Given the description of an element on the screen output the (x, y) to click on. 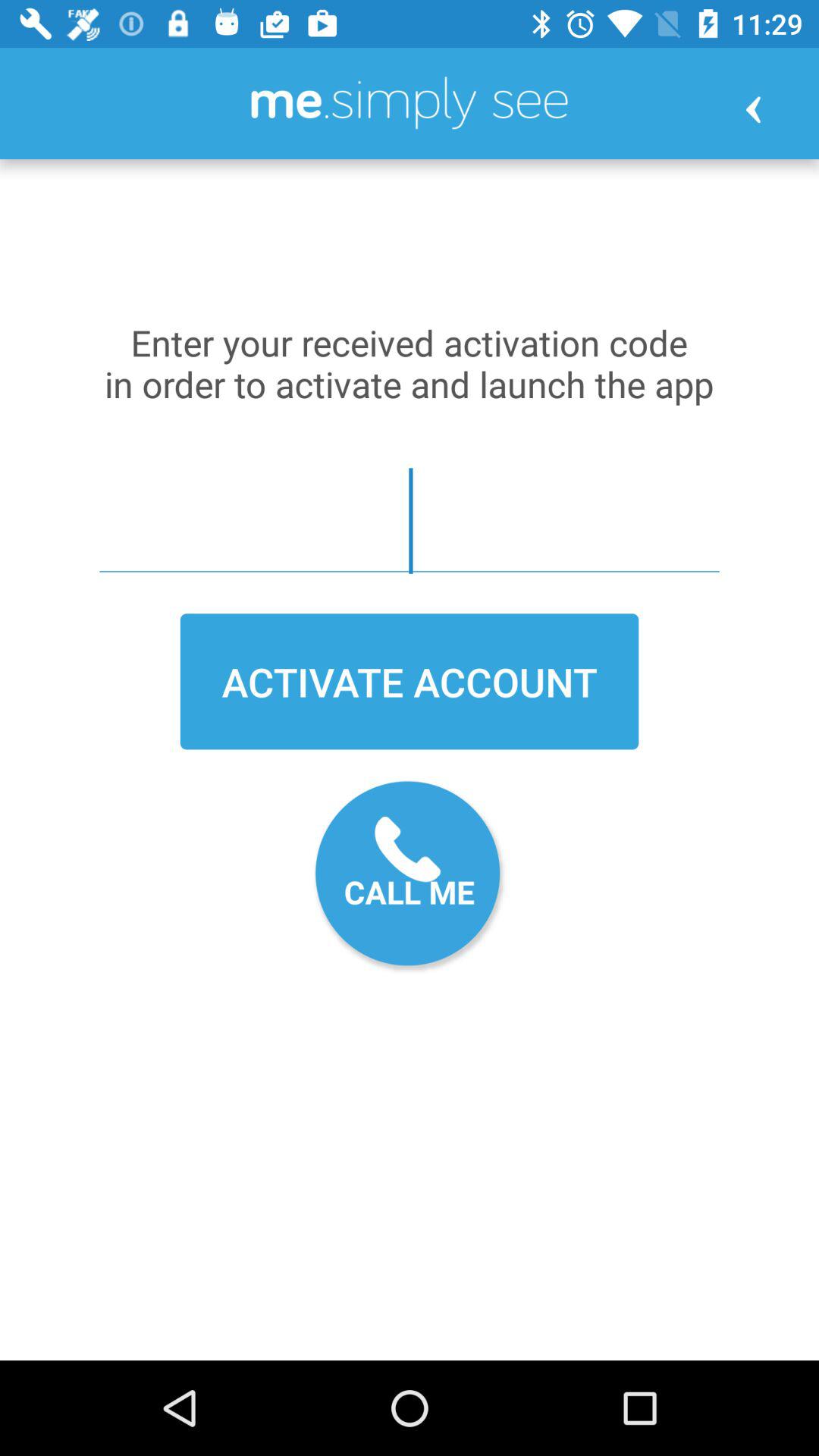
go to previous (753, 109)
